Given the description of an element on the screen output the (x, y) to click on. 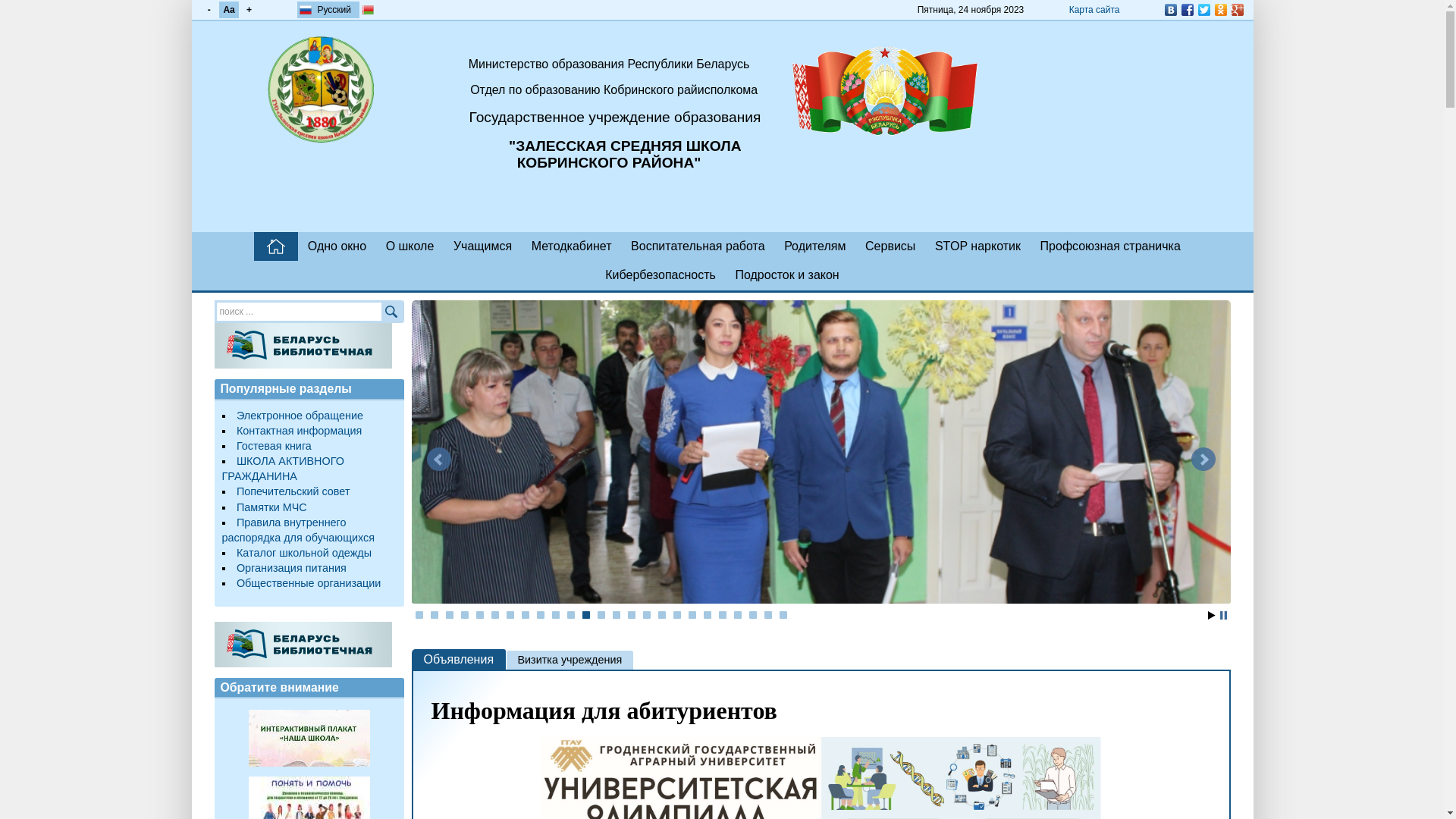
4 Element type: text (464, 614)
18 Element type: text (676, 614)
16 Element type: text (646, 614)
Start Element type: text (1210, 615)
9 Element type: text (540, 614)
Google Plus Element type: hover (1236, 9)
25 Element type: text (783, 614)
10 Element type: text (555, 614)
Facebook Element type: hover (1186, 9)
Aa Element type: text (228, 9)
13 Element type: text (601, 614)
Stop Element type: text (1222, 615)
24 Element type: text (767, 614)
22 Element type: text (737, 614)
12 Element type: text (585, 614)
15 Element type: text (631, 614)
14 Element type: text (616, 614)
1 Element type: text (419, 614)
6 Element type: text (494, 614)
20 Element type: text (707, 614)
- Element type: text (208, 9)
  Element type: text (276, 246)
17 Element type: text (661, 614)
Twitter Element type: hover (1203, 9)
23 Element type: text (752, 614)
21 Element type: text (722, 614)
3 Element type: text (449, 614)
5 Element type: text (479, 614)
2 Element type: text (434, 614)
19 Element type: text (692, 614)
7 Element type: text (510, 614)
Next Element type: text (1202, 459)
+ Element type: text (248, 9)
Prev Element type: text (438, 459)
11 Element type: text (570, 614)
8 Element type: text (525, 614)
